Given the description of an element on the screen output the (x, y) to click on. 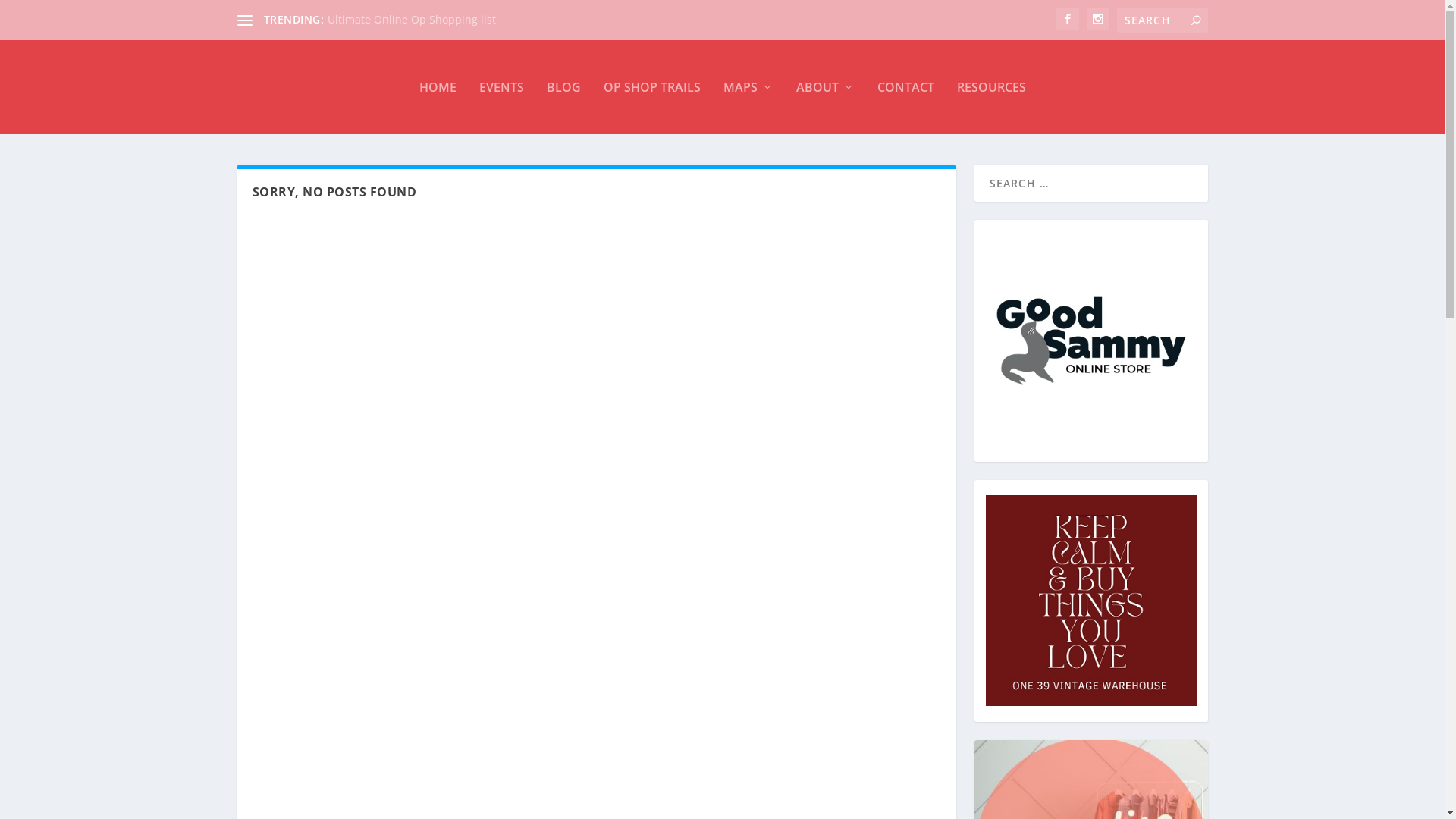
EVENTS Element type: text (501, 87)
Ultimate Online Op Shopping list Element type: text (411, 19)
CONTACT Element type: text (904, 87)
MAPS Element type: text (748, 87)
HOME Element type: text (436, 87)
Search for: Element type: hover (1161, 19)
ABOUT Element type: text (825, 87)
BLOG Element type: text (563, 87)
RESOURCES Element type: text (991, 87)
OP SHOP TRAILS Element type: text (651, 87)
